Given the description of an element on the screen output the (x, y) to click on. 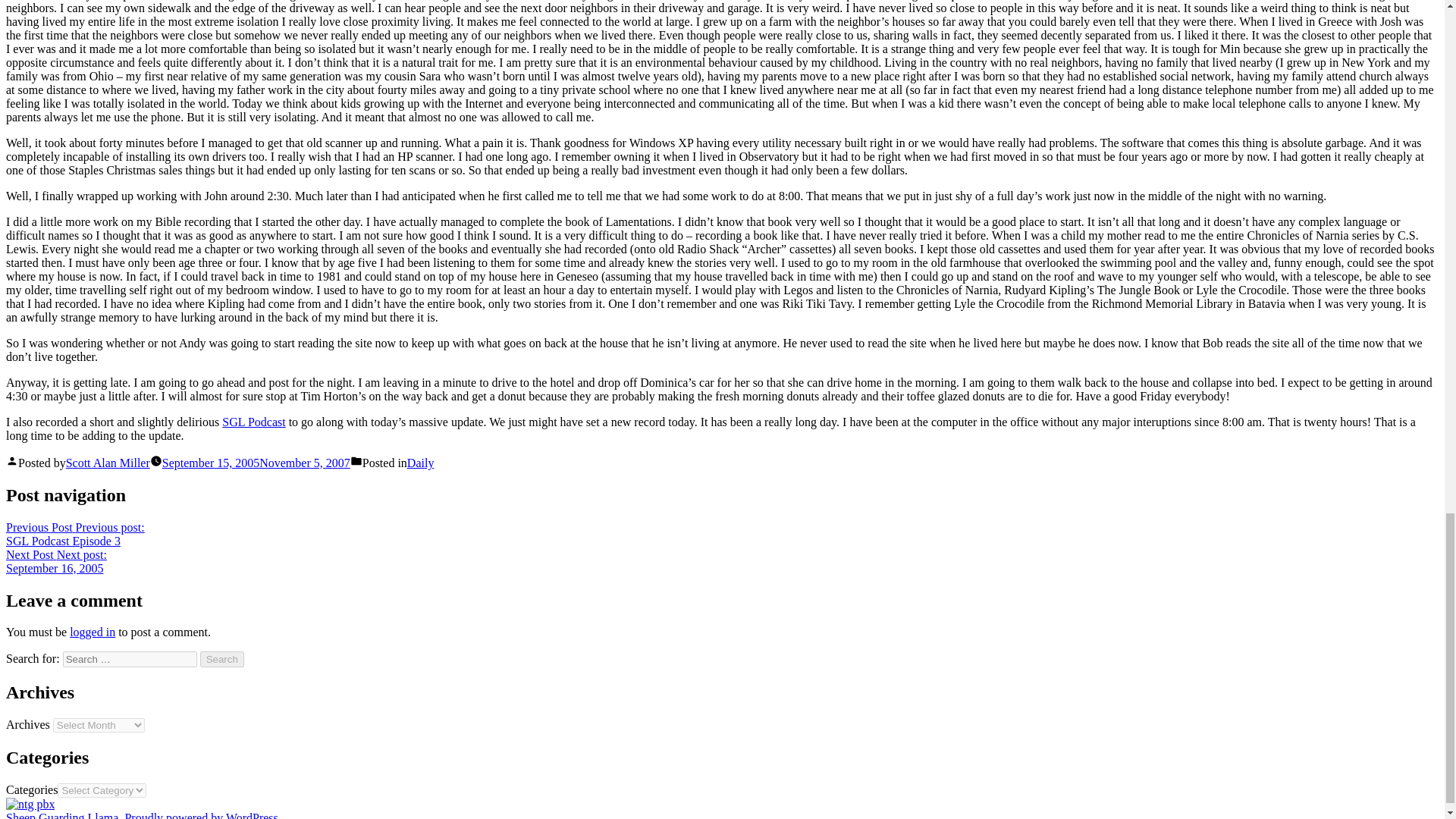
Search (222, 659)
September 15, 2005November 5, 2007 (255, 462)
Daily (420, 462)
SGL Podcast (253, 421)
Scott Alan Miller (107, 462)
Search (222, 659)
logged in (55, 560)
Search (92, 631)
